Given the description of an element on the screen output the (x, y) to click on. 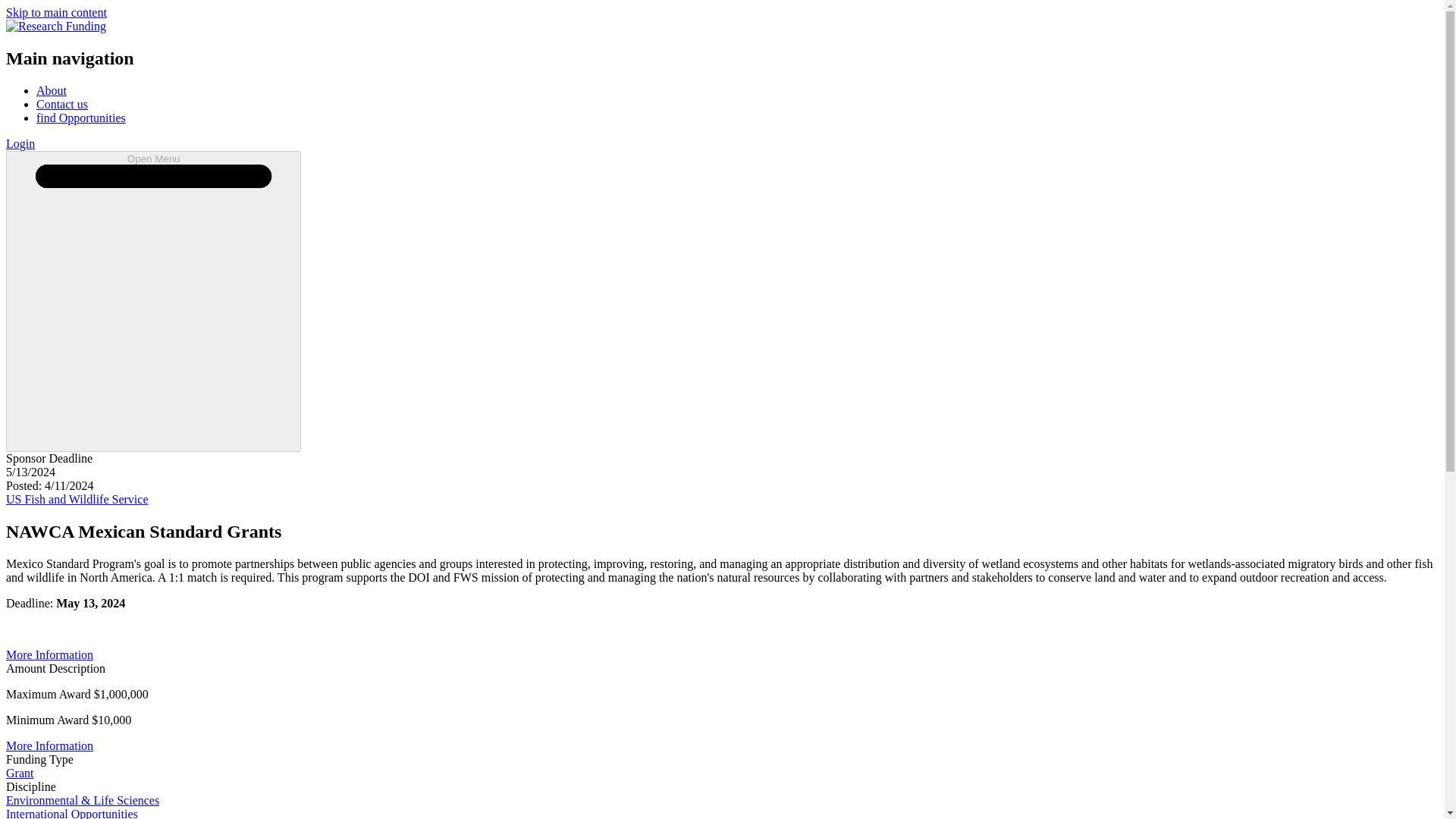
More Information (49, 745)
Open Menu (153, 301)
Skip to main content (55, 11)
About (51, 90)
International Opportunities (71, 813)
Login (19, 143)
Grant (19, 772)
More Information (49, 654)
US Fish and Wildlife Service (76, 499)
find Opportunities (80, 117)
